Given the description of an element on the screen output the (x, y) to click on. 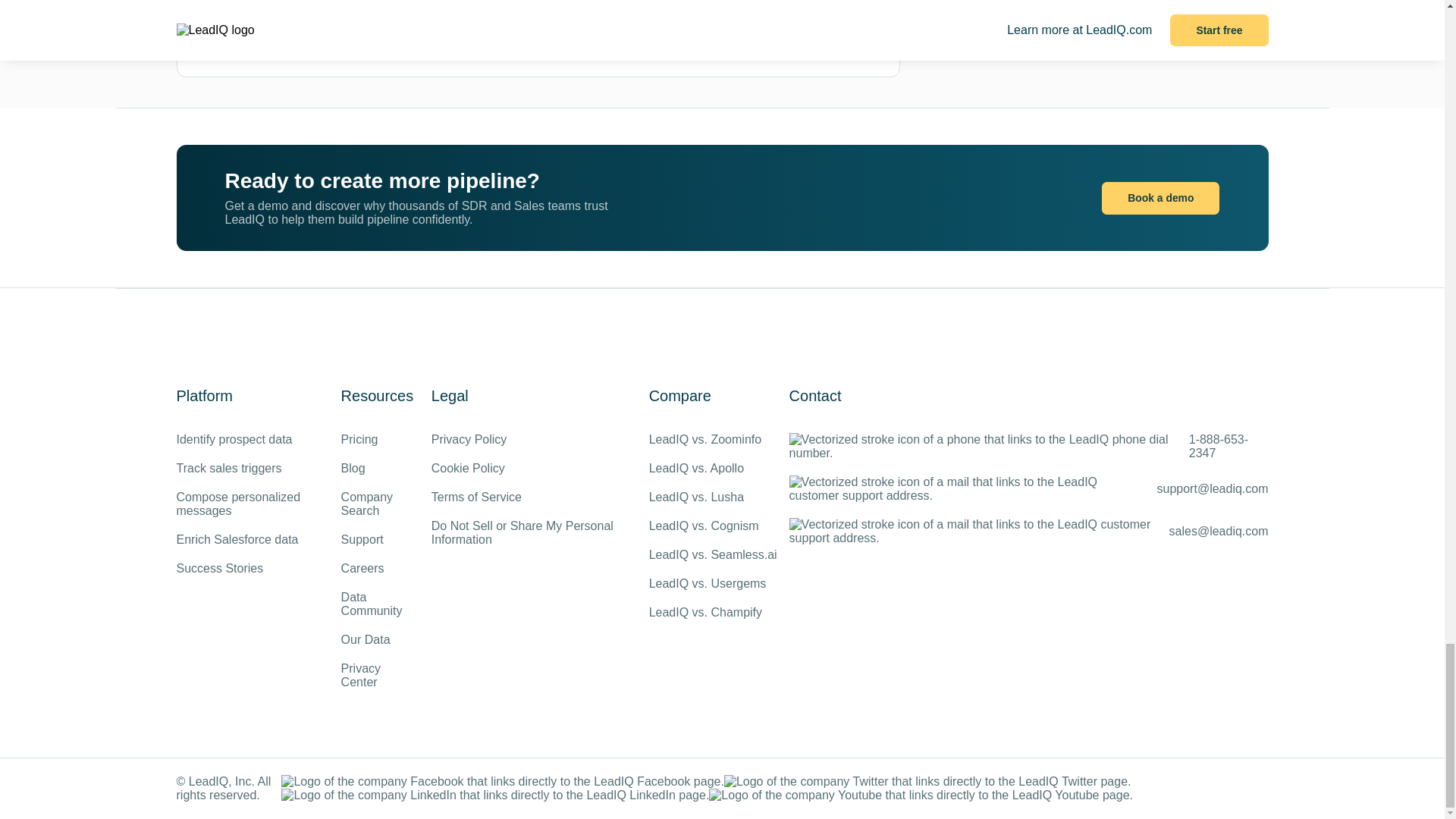
Find more Direct Incorporation email formats (611, 28)
